Given the description of an element on the screen output the (x, y) to click on. 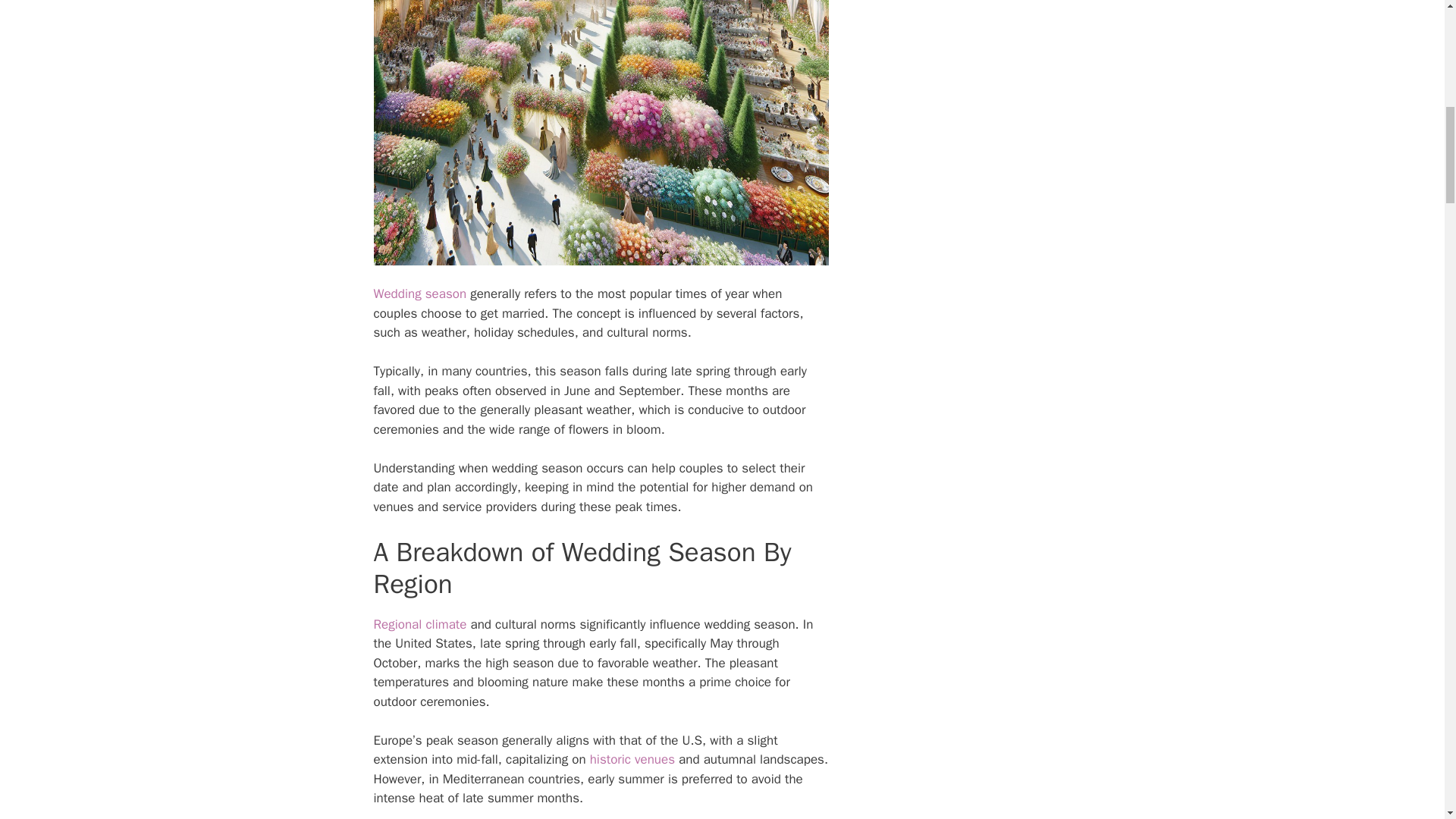
Wedding season (418, 293)
Regional climate (418, 624)
historic venues (632, 759)
